Given the description of an element on the screen output the (x, y) to click on. 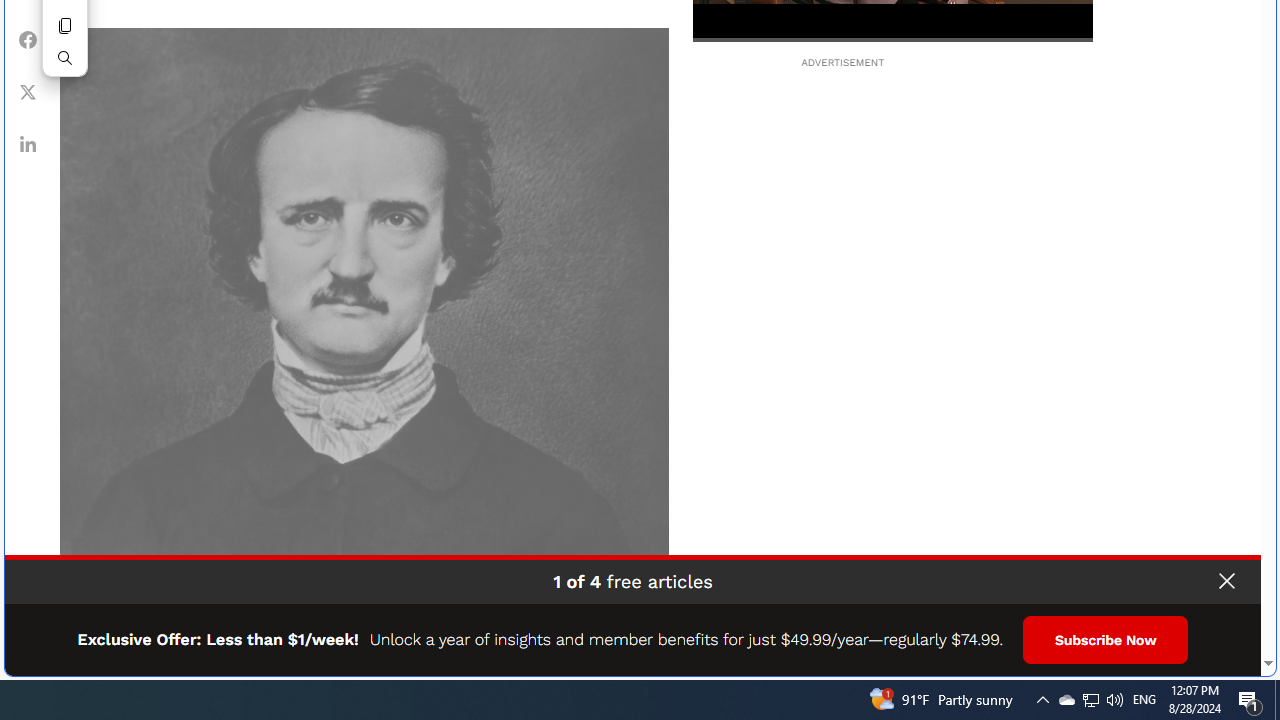
Seek (892, 38)
Tray Input Indicator - English (United States) (1144, 699)
Portrait of Edgar Allan Poe. (364, 332)
Class: fs-icon fs-icon--Facebook (27, 39)
Show desktop (1091, 699)
Notification Chevron (1277, 699)
Action Center, 1 new notification (1042, 699)
Class: fs-icon fs-icon--linkedin (1250, 699)
Privacy (28, 143)
Subscribe Now (1209, 653)
